Given the description of an element on the screen output the (x, y) to click on. 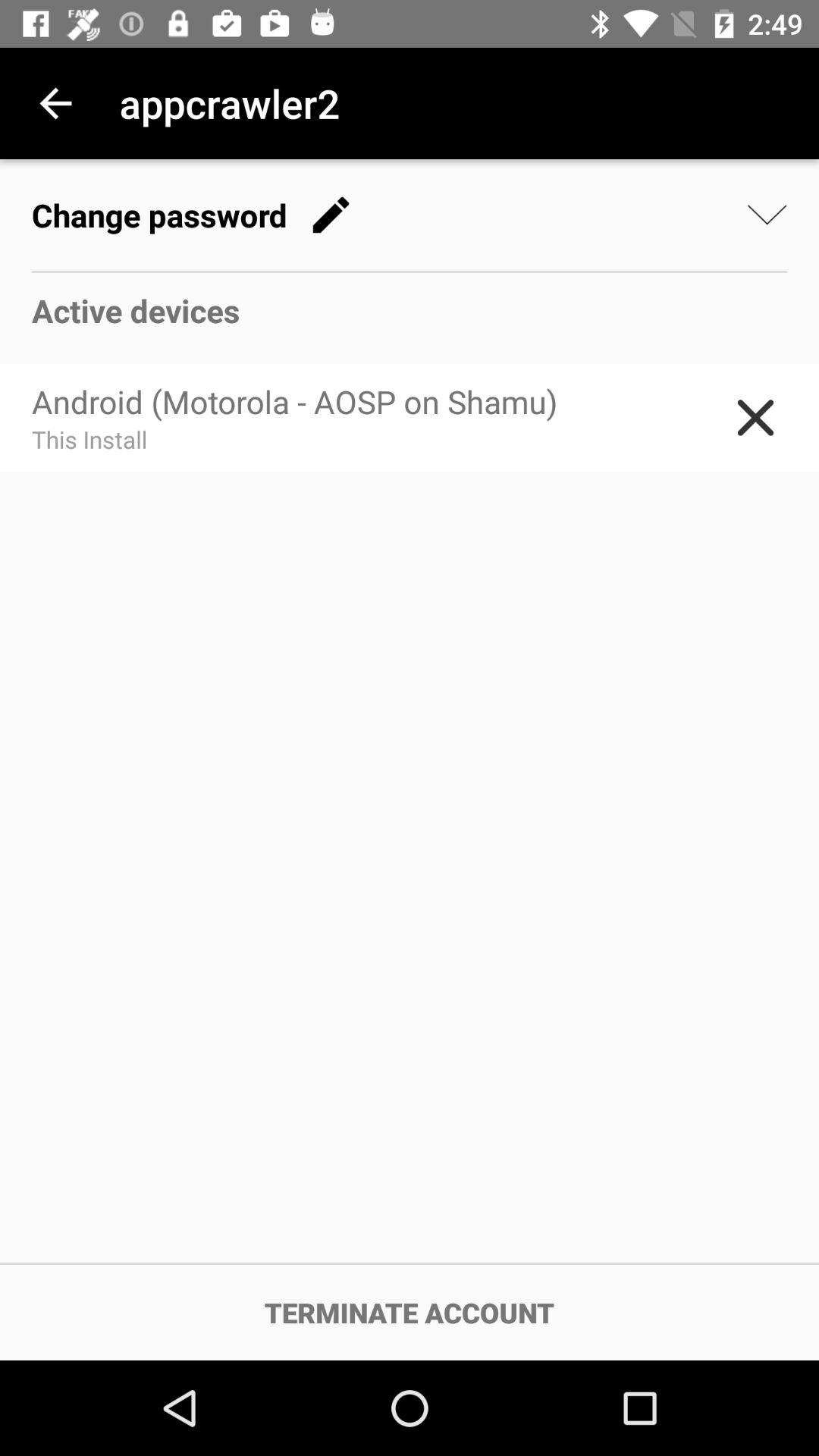
turn off the icon above change password icon (55, 103)
